Given the description of an element on the screen output the (x, y) to click on. 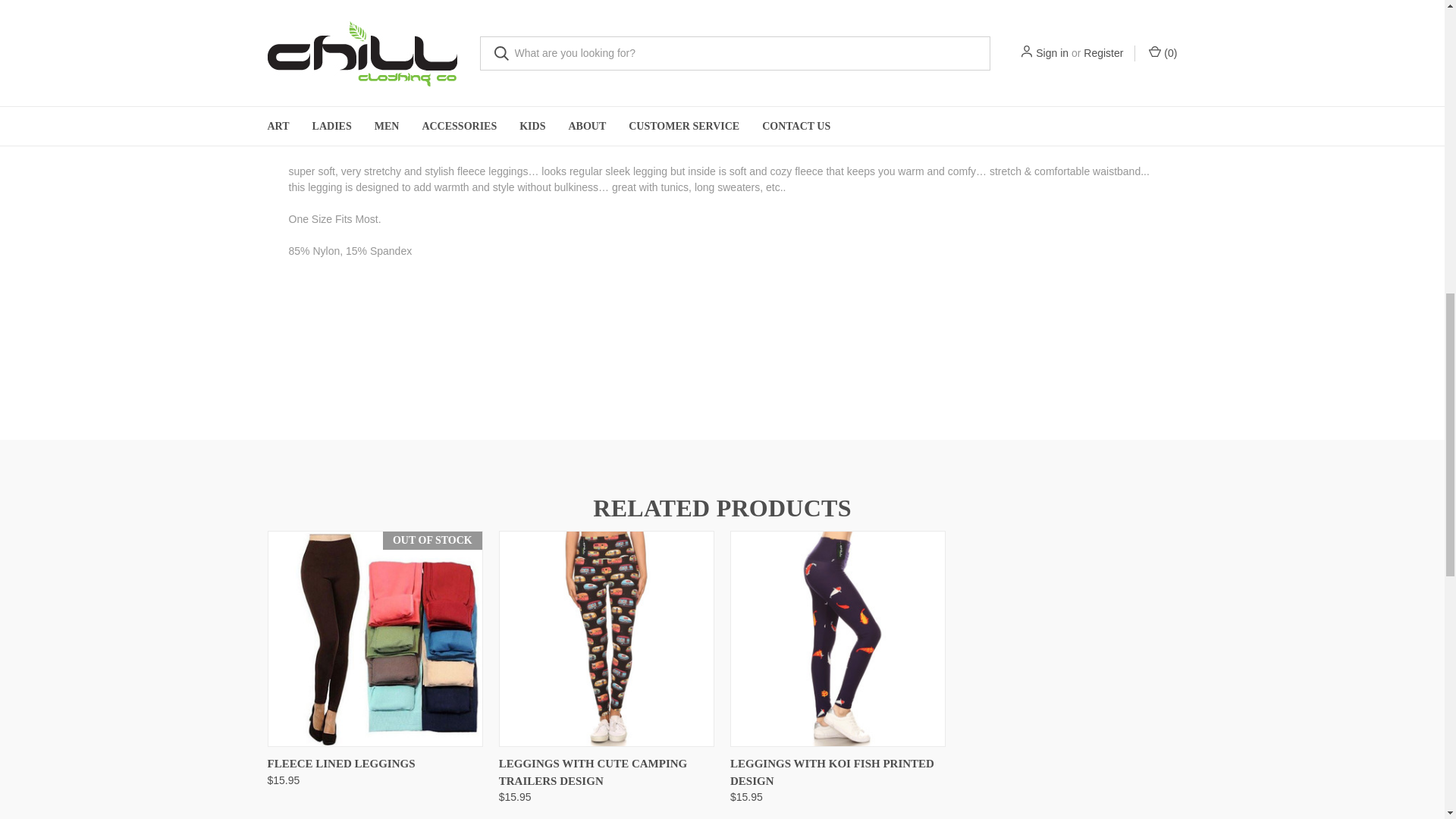
Leggings with Koi fish printed design (837, 638)
Leggings with Cute Camping Trailers Design (606, 638)
Fleece Lined Leggings (374, 639)
